Given the description of an element on the screen output the (x, y) to click on. 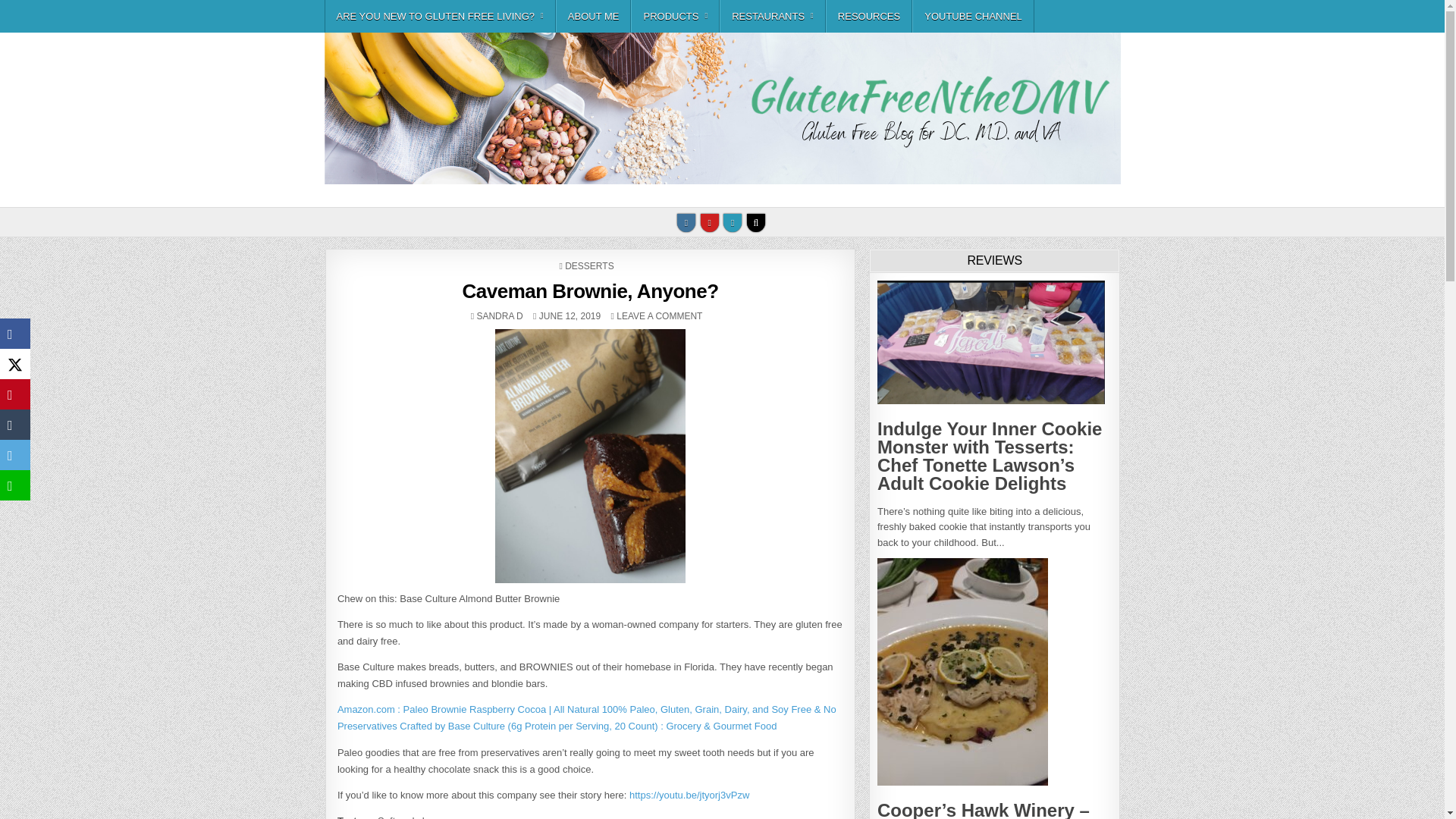
RESOURCES (868, 16)
ABOUT ME (593, 16)
YOUTUBE CHANNEL (972, 16)
DESSERTS (588, 266)
Instagram (686, 222)
Youtube (709, 222)
Email Us (732, 222)
Caveman Brownie, Anyone? (658, 316)
Permanent Link to Caveman Brownie, Anyone? (589, 291)
